Given the description of an element on the screen output the (x, y) to click on. 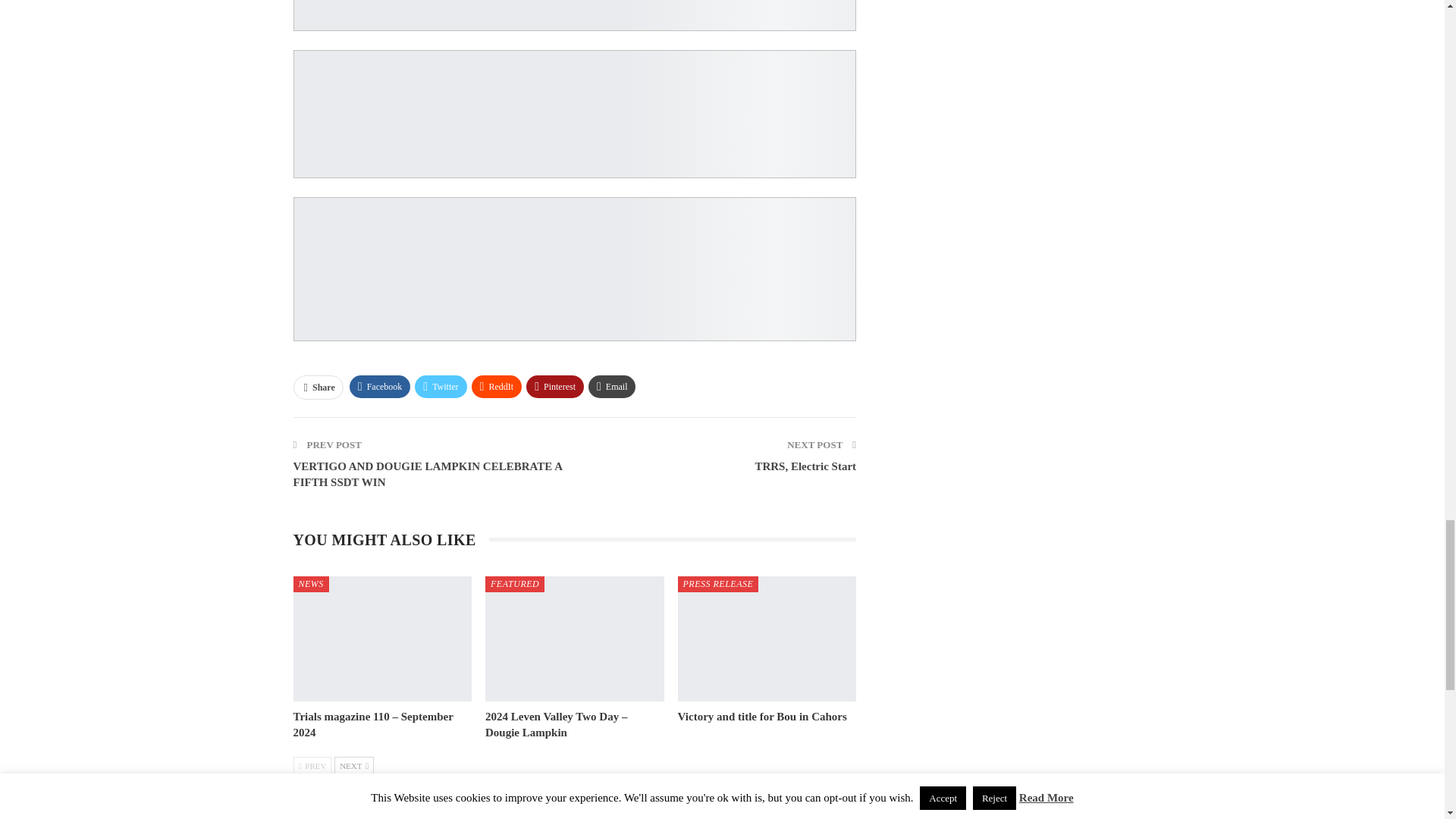
FEATURED (514, 583)
ReddIt (496, 386)
NEWS (310, 583)
TRRS, Electric Start (805, 466)
Victory and title for Bou in Cahors (762, 716)
Pinterest (554, 386)
